Given the description of an element on the screen output the (x, y) to click on. 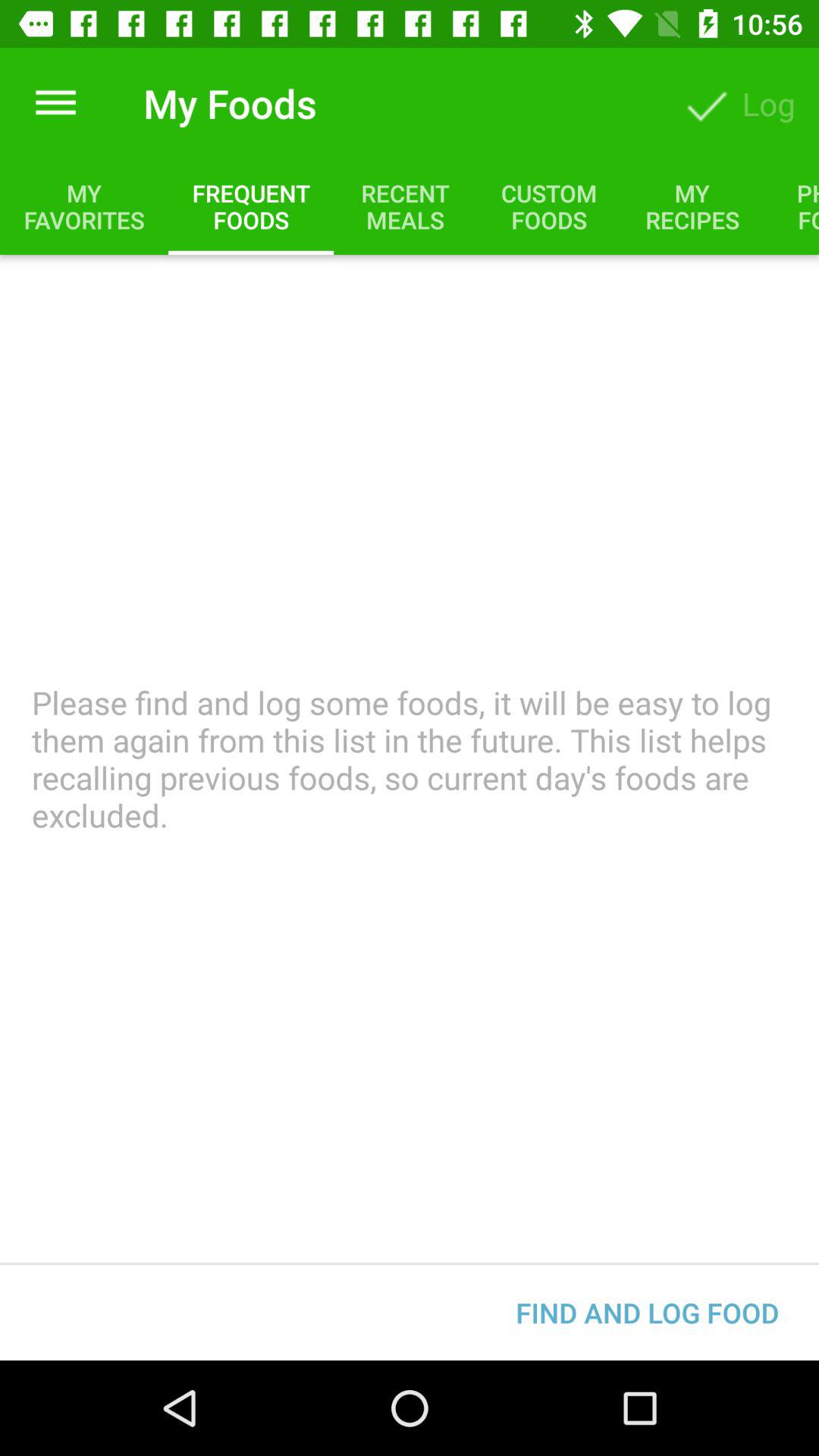
press the item next to my foods (55, 103)
